Given the description of an element on the screen output the (x, y) to click on. 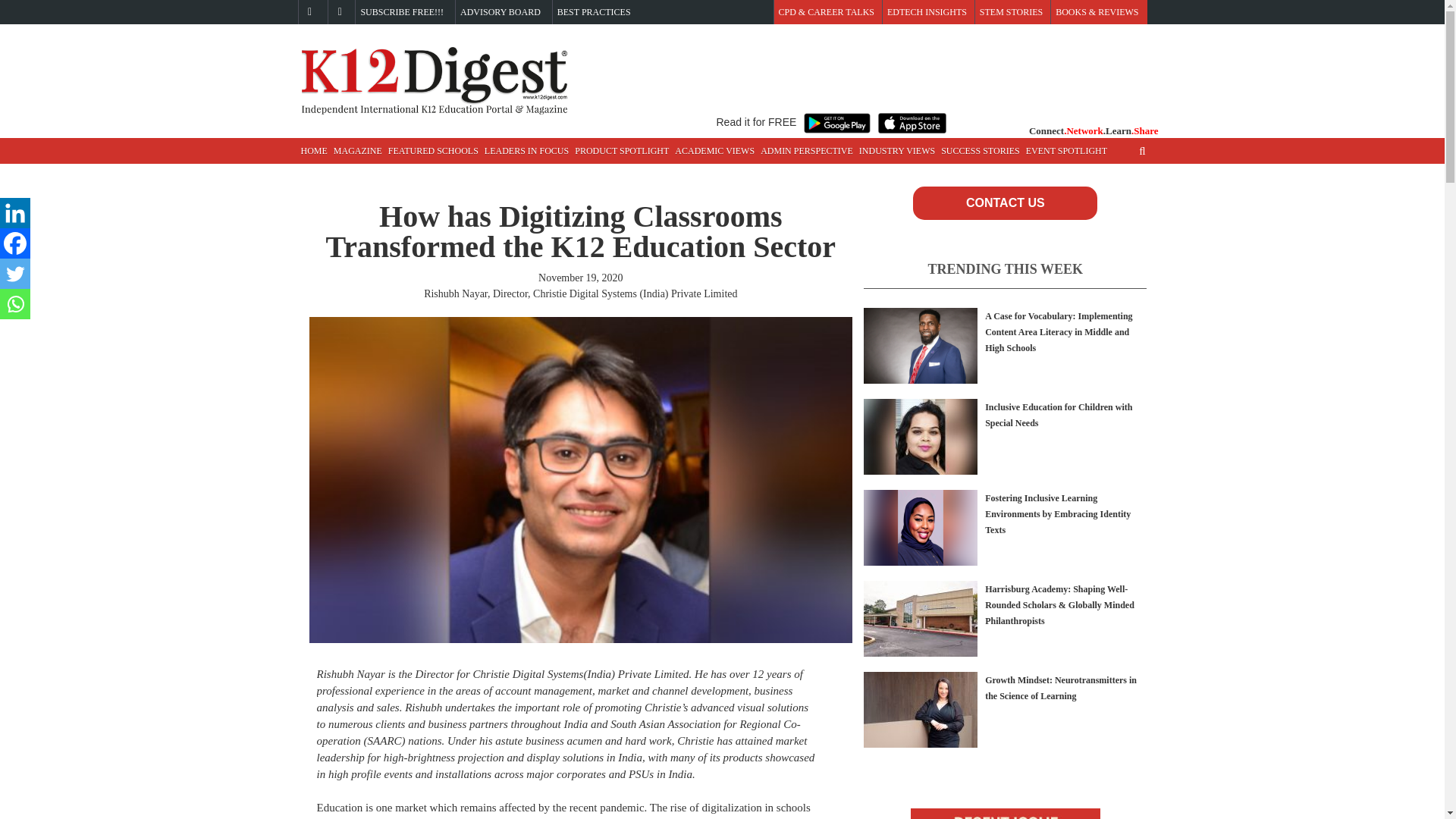
SUCCESS STORIES (979, 150)
ADMIN PERSPECTIVE (806, 150)
MAGAZINE (357, 150)
Facebook (15, 243)
STEM STORIES (1010, 12)
HOME (313, 150)
SUBSCRIBE FREE!!! (401, 12)
BEST PRACTICES (593, 12)
EVENT SPOTLIGHT (1066, 150)
INDUSTRY VIEWS (896, 150)
Twitter (15, 273)
ACADEMIC VIEWS (714, 150)
PRODUCT SPOTLIGHT (621, 150)
Linkedin (15, 213)
ADVISORY BOARD (500, 12)
